Given the description of an element on the screen output the (x, y) to click on. 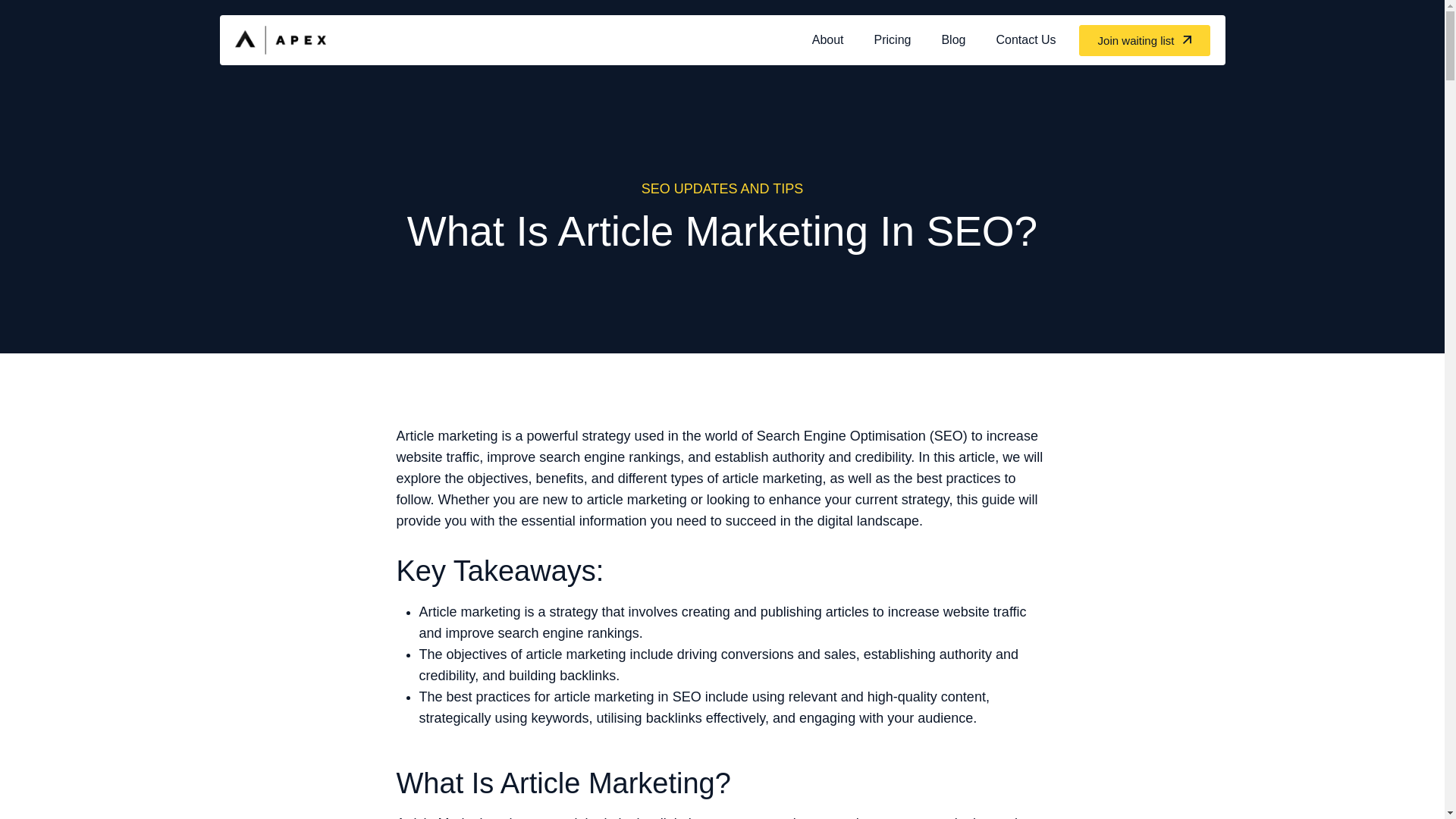
Blog (952, 39)
Pricing (892, 39)
Join waiting list (1143, 39)
SEO UPDATES AND TIPS (722, 187)
About (827, 39)
Contact Us (1024, 39)
